Given the description of an element on the screen output the (x, y) to click on. 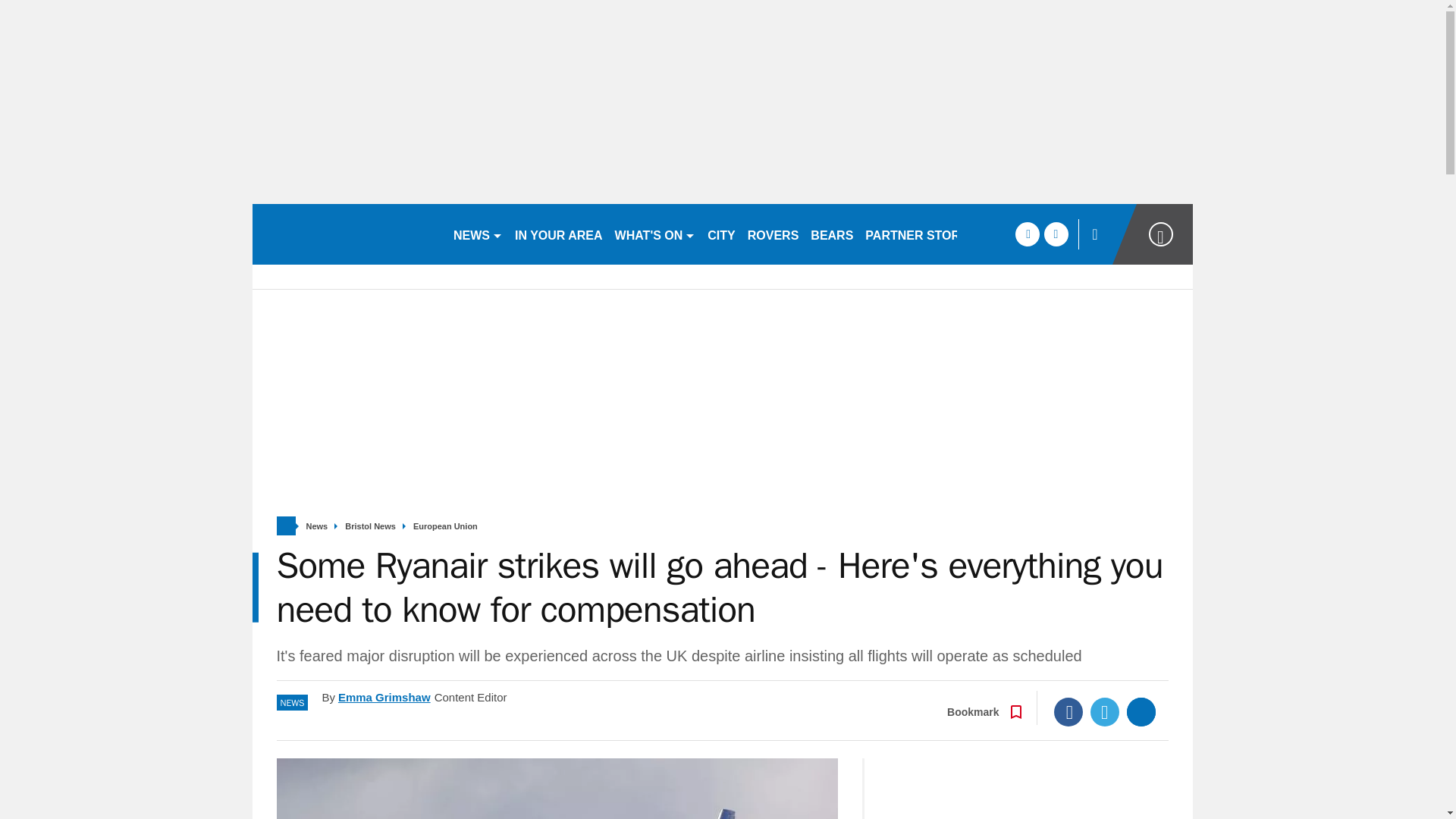
Twitter (1104, 711)
WHAT'S ON (654, 233)
twitter (1055, 233)
ROVERS (773, 233)
PARTNER STORIES (922, 233)
NEWS (477, 233)
BEARS (832, 233)
bristolpost (345, 233)
facebook (1026, 233)
IN YOUR AREA (558, 233)
